Given the description of an element on the screen output the (x, y) to click on. 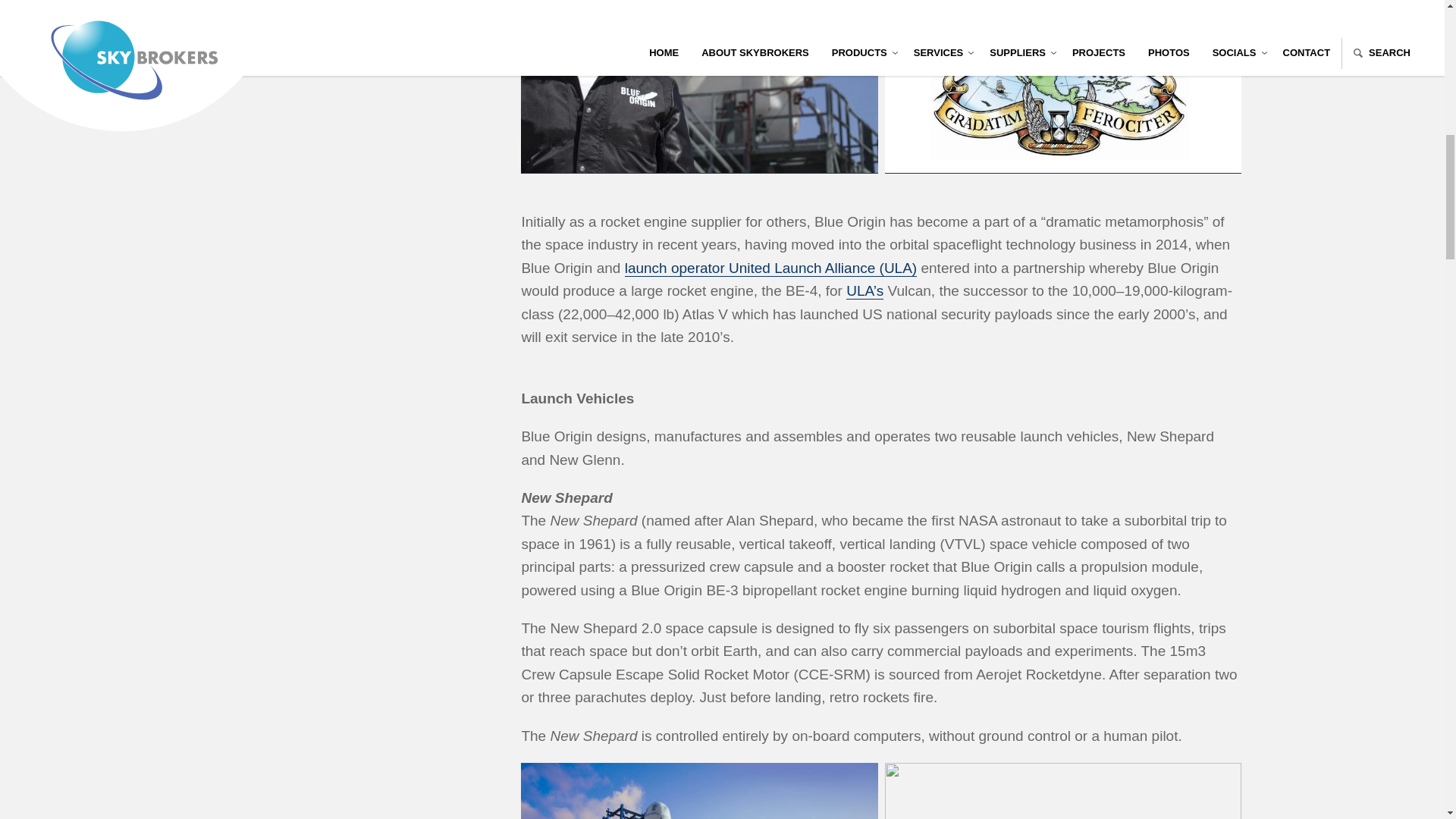
Follow Skybrokers on Linkedin (348, 4)
Follow Skybrokers on Pinterest (381, 4)
Follow Skybrokers on Twitter (248, 4)
Follow Skybrokers on Instagram (315, 4)
Follow Skybrokers on Youtube (282, 4)
Follow Skybrokers on Facebook (215, 4)
